Given the description of an element on the screen output the (x, y) to click on. 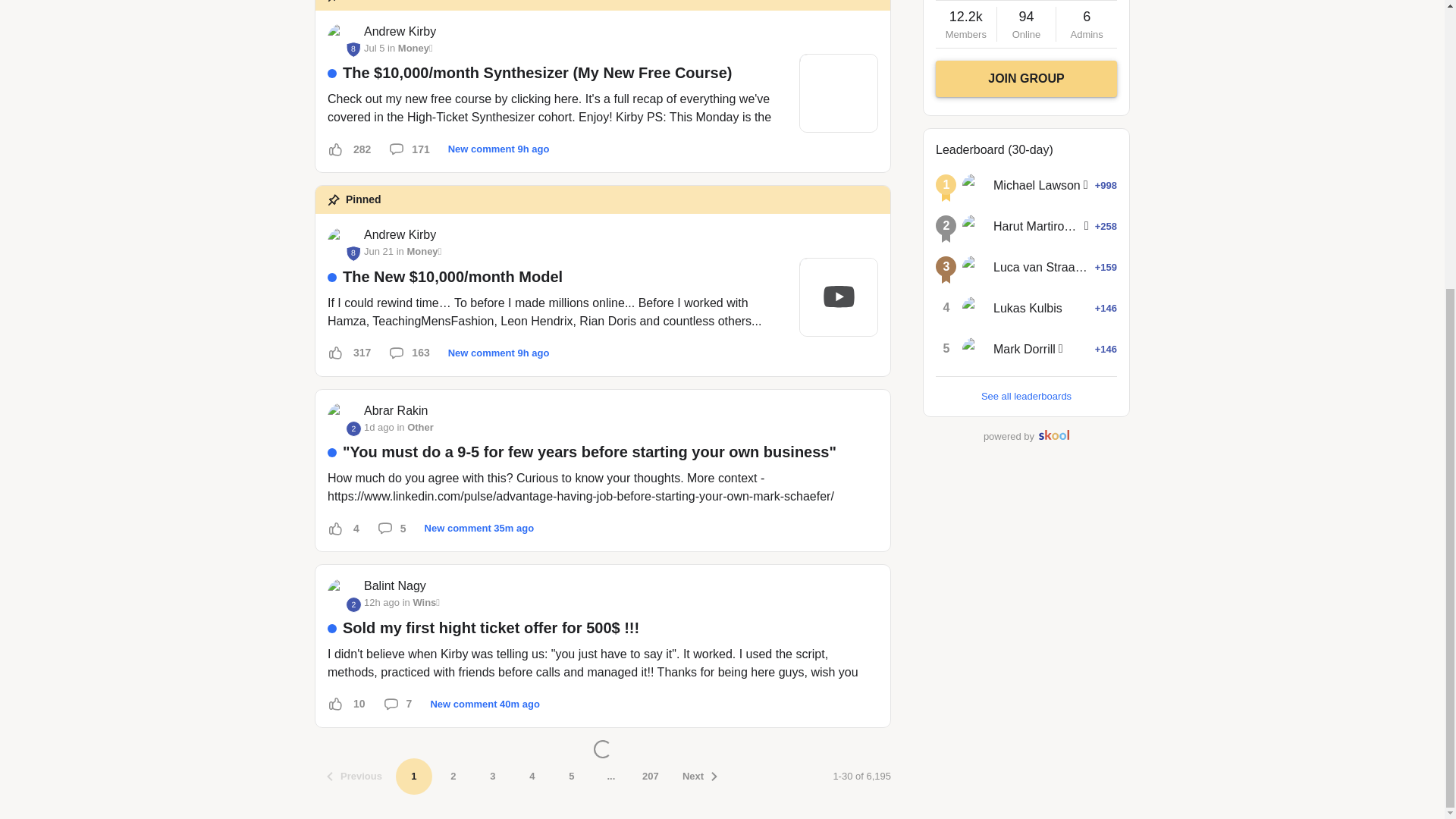
Luca van Straalen (974, 267)
Michael Lawson (974, 185)
2 (342, 593)
2 (342, 417)
Balint Nagy (342, 593)
Andrew Kirby (399, 31)
8 (342, 242)
Balint Nagy (395, 586)
Other (420, 426)
2 (353, 604)
